Given the description of an element on the screen output the (x, y) to click on. 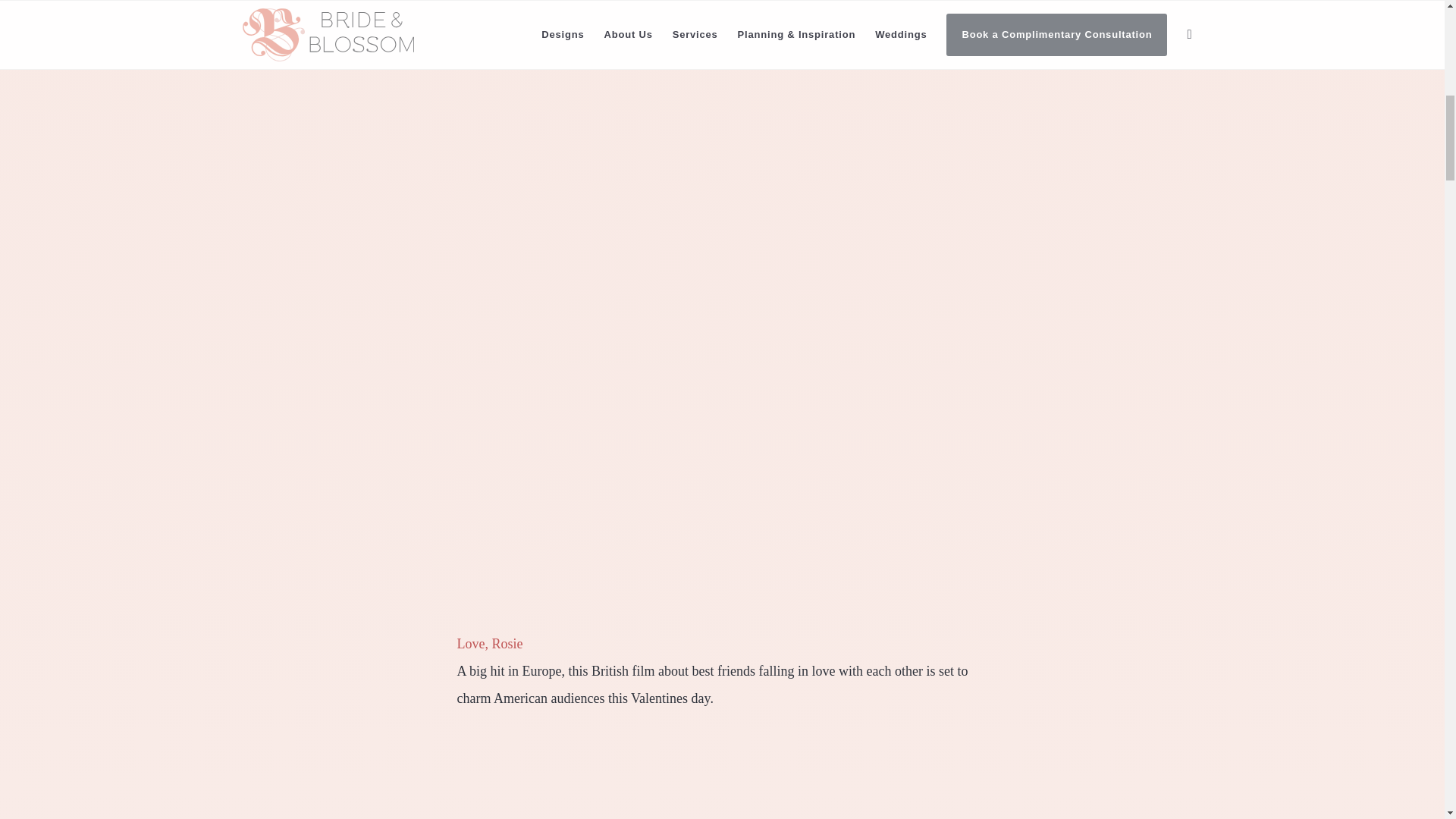
Love, Rosie (489, 643)
